Given the description of an element on the screen output the (x, y) to click on. 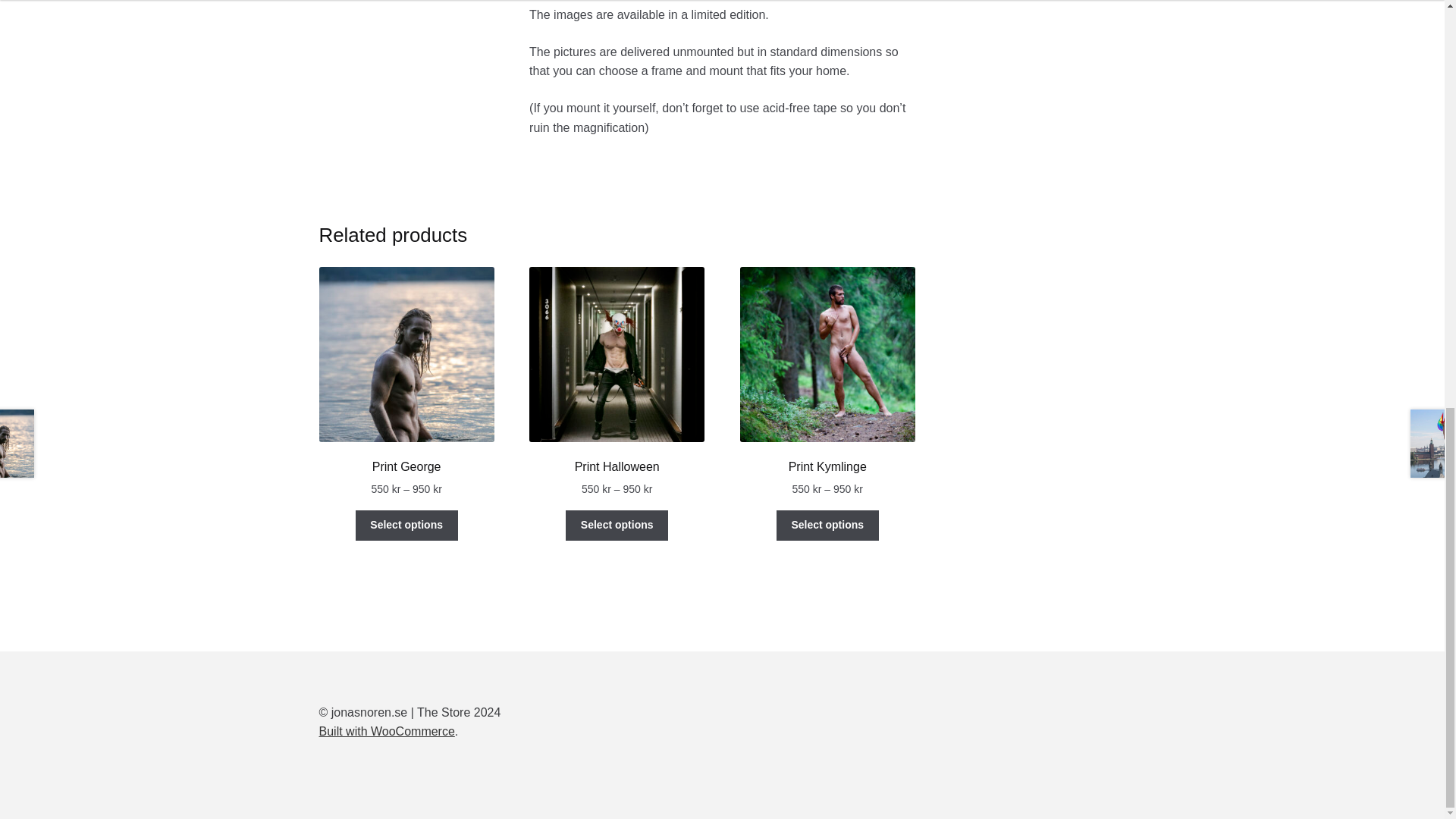
Select options (617, 525)
Select options (827, 525)
Built with WooCommerce (386, 730)
WooCommerce - The Best eCommerce Platform for WordPress (386, 730)
Select options (406, 525)
